Given the description of an element on the screen output the (x, y) to click on. 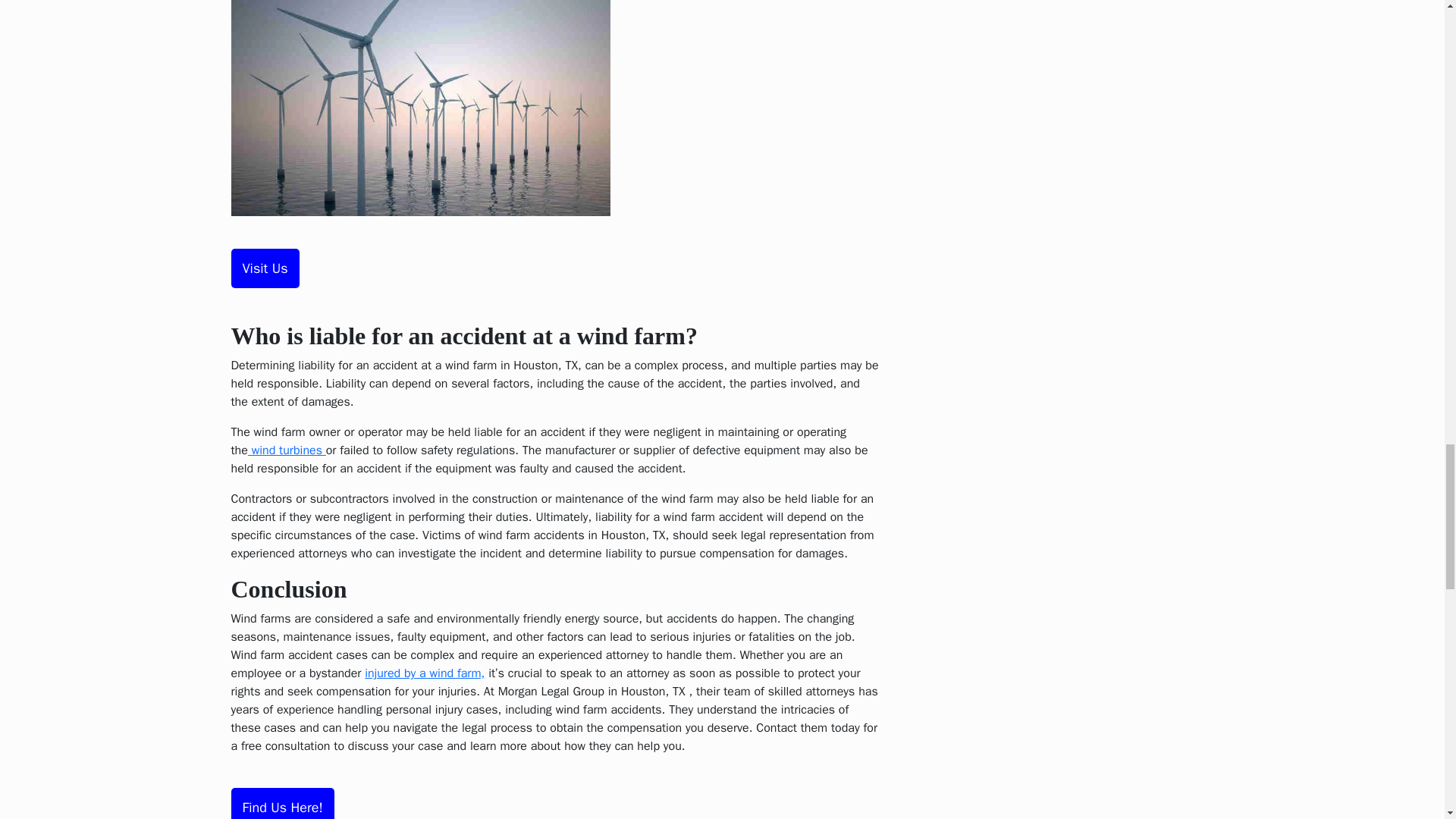
 wind turbines  (286, 450)
injured by a wind farm, (424, 672)
Find Us Here! (281, 803)
Visit Us (264, 268)
